Given the description of an element on the screen output the (x, y) to click on. 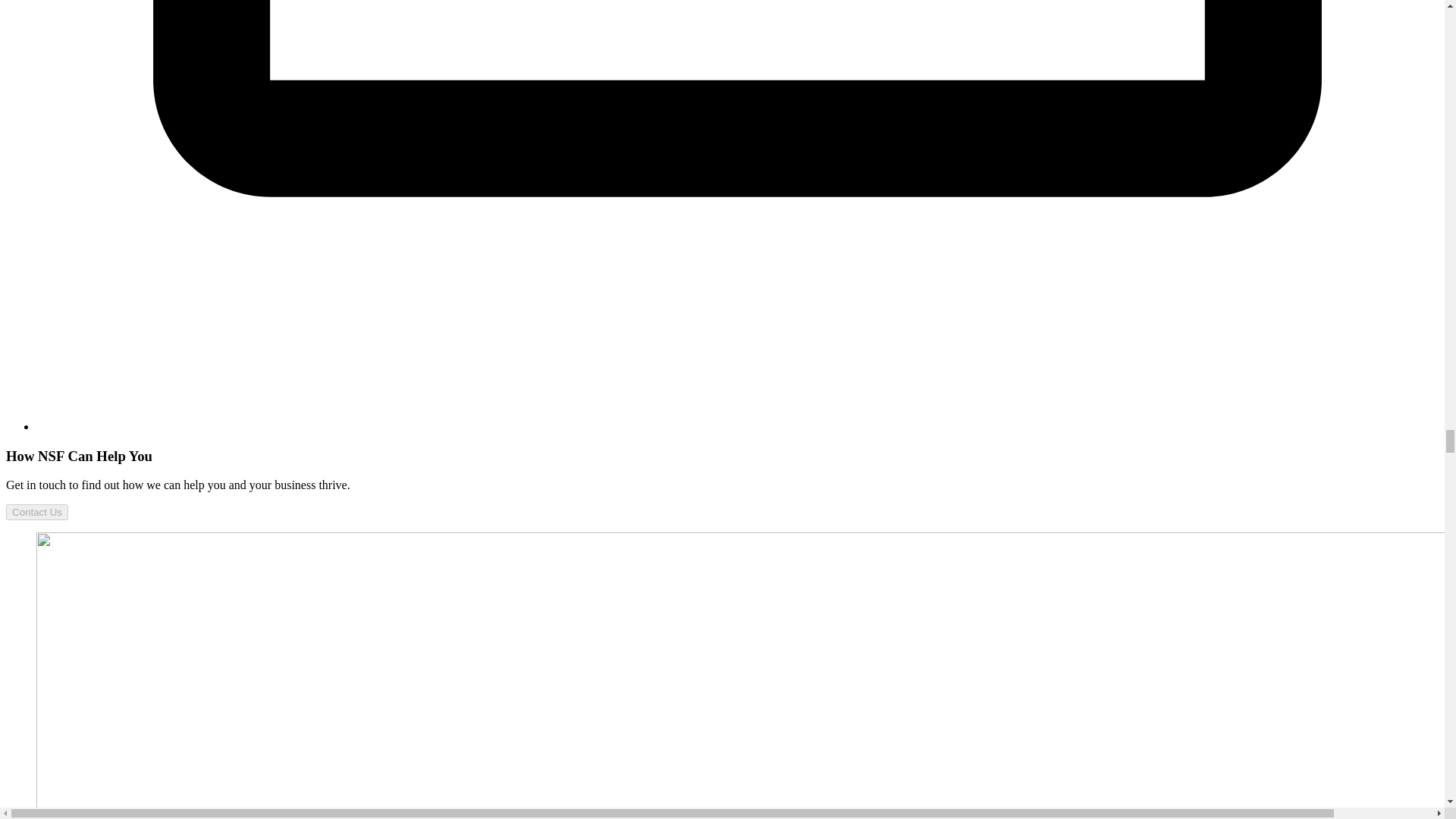
Contact Us (36, 512)
